Given the description of an element on the screen output the (x, y) to click on. 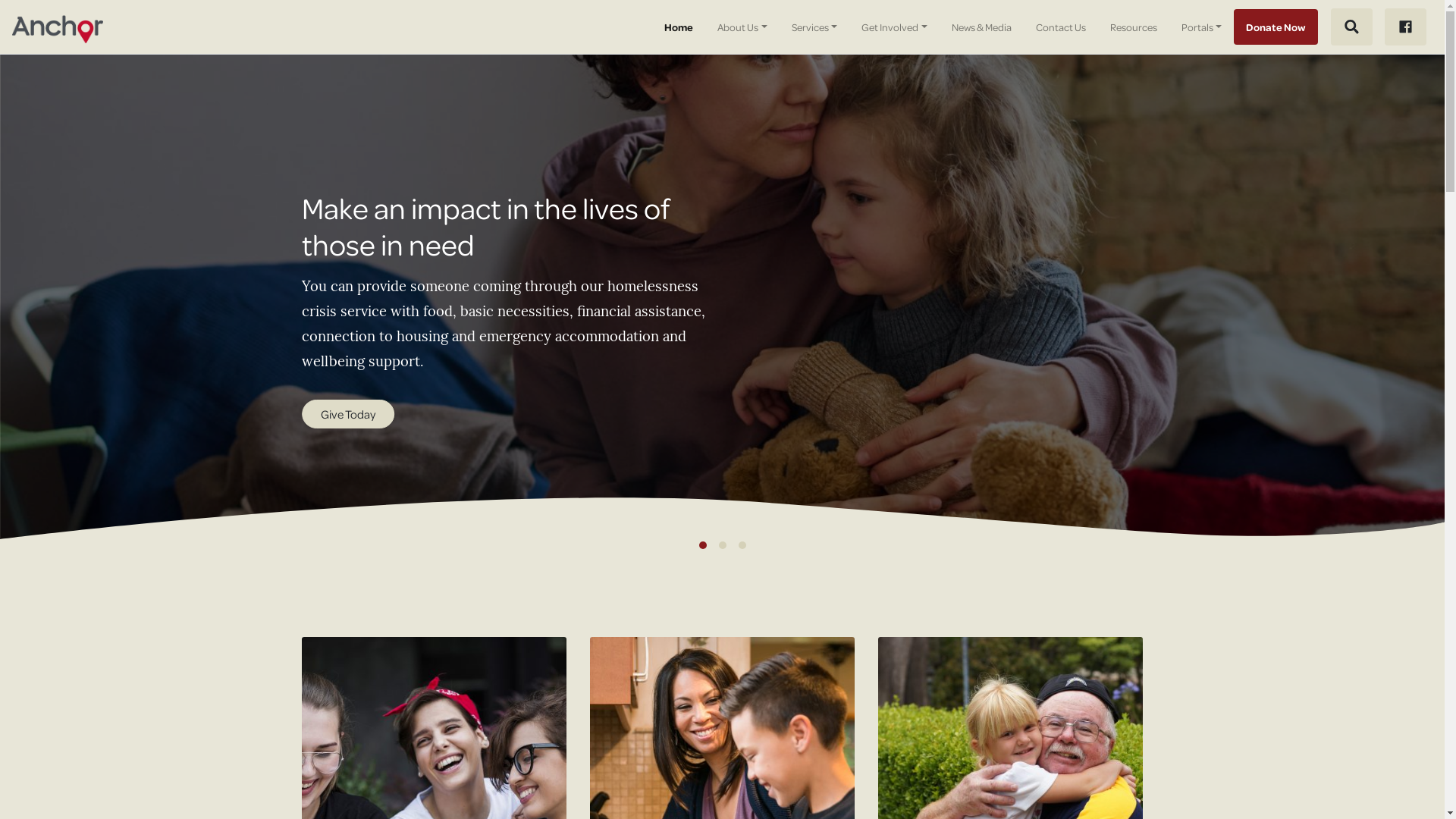
Donate Now Element type: text (1275, 26)
Get Involved Element type: text (894, 26)
About Us Element type: text (742, 26)
Give Today Element type: text (347, 413)
Contact Us Element type: text (1060, 26)
Resources Element type: text (1133, 26)
Home Element type: text (678, 26)
Services Element type: text (814, 26)
Portals Element type: text (1201, 26)
News & Media Element type: text (981, 26)
